Given the description of an element on the screen output the (x, y) to click on. 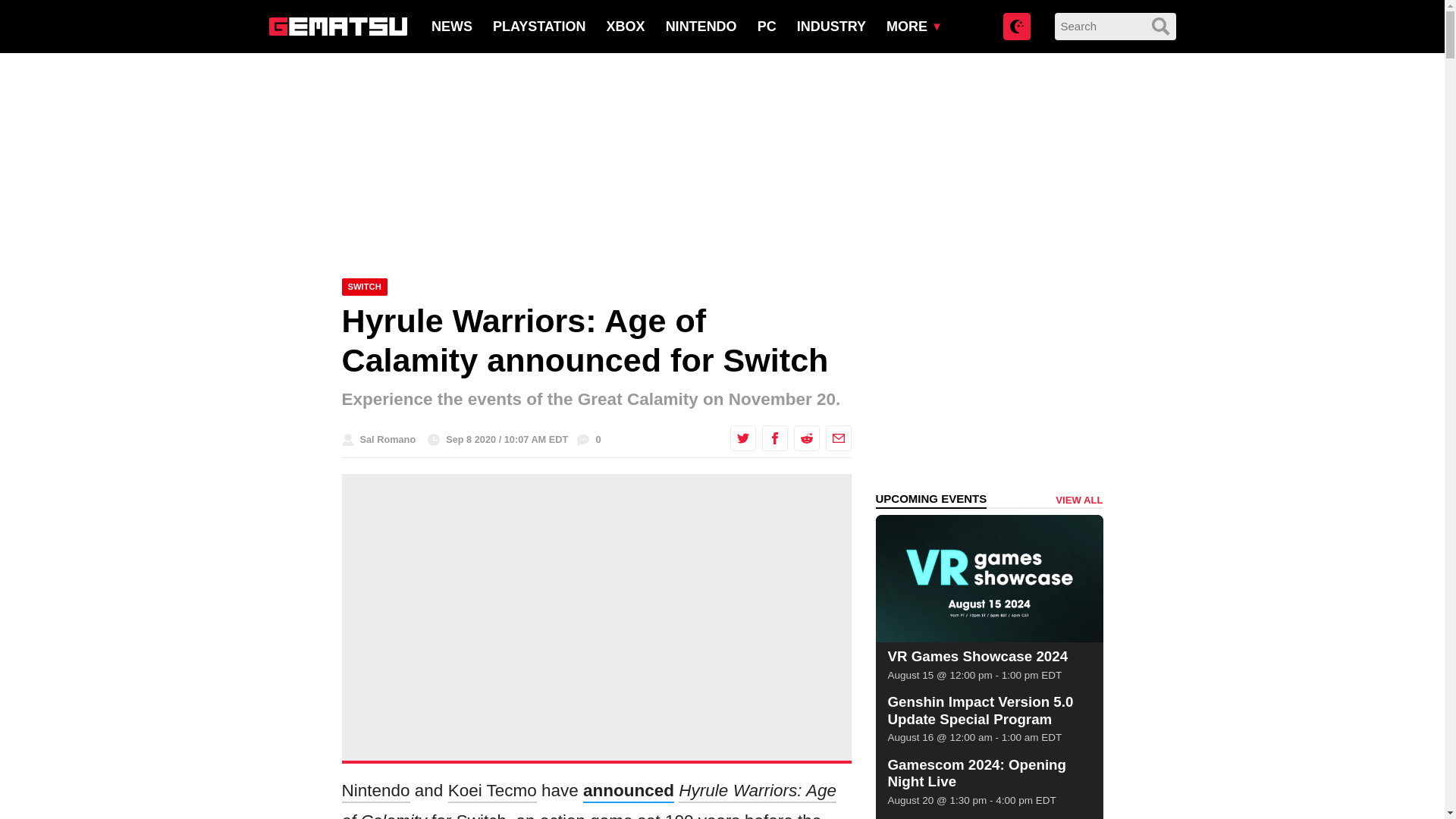
Share this by email (837, 438)
PLAYSTATION (539, 26)
Share this on Twitter (742, 438)
MORE (906, 26)
Posts by Sal Romano (386, 439)
XBOX (626, 26)
Share this on Facebook (774, 438)
Gematsu (336, 26)
Share this on Reddit (805, 438)
NINTENDO (700, 26)
